Given the description of an element on the screen output the (x, y) to click on. 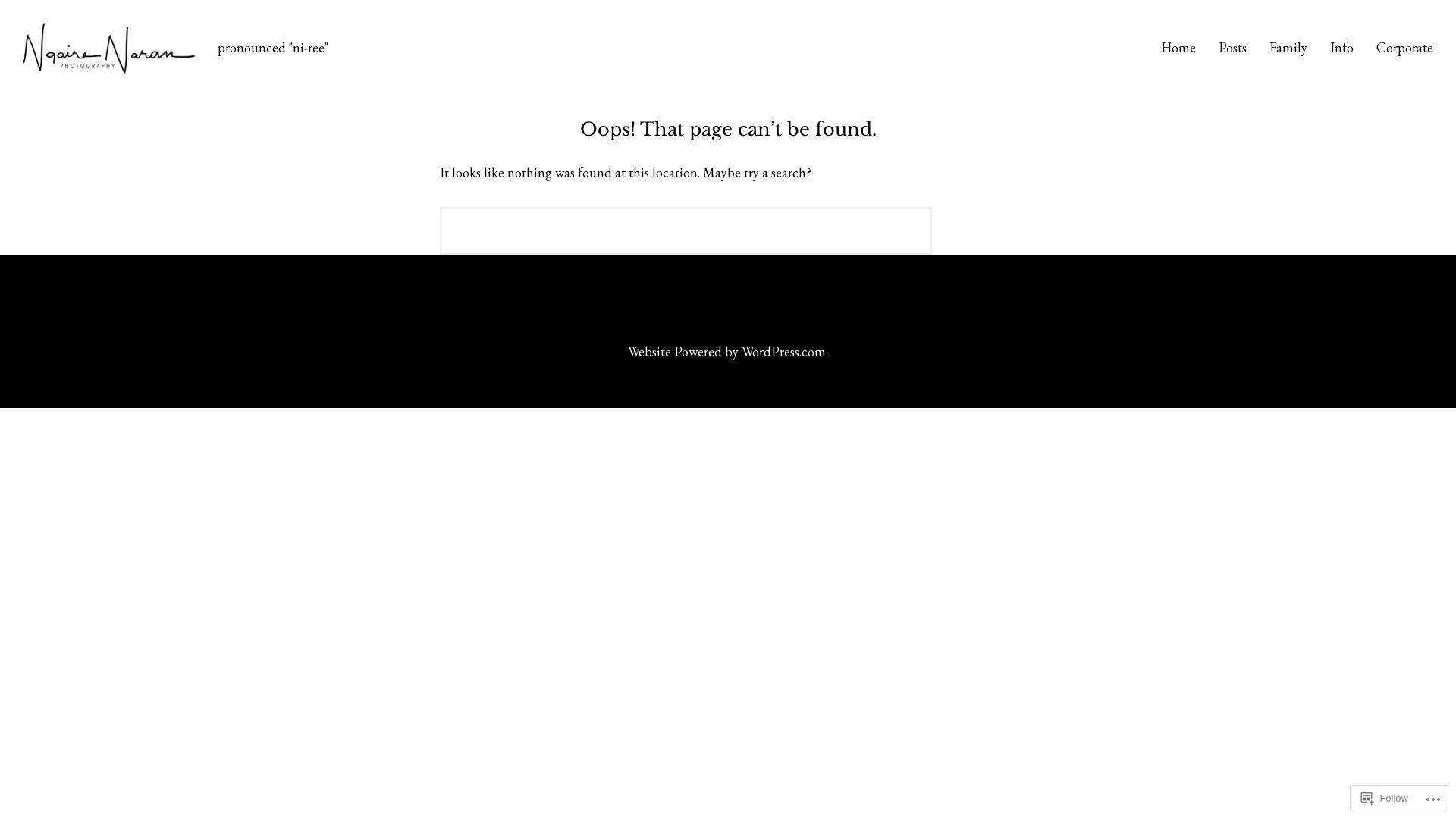
Home Element type: text (1178, 48)
Website Powered by WordPress.com Element type: text (726, 351)
Follow Element type: text (1384, 797)
Posts Element type: text (1232, 48)
Info Element type: text (1341, 48)
Family Element type: text (1288, 48)
Corporate Element type: text (1404, 48)
Search Element type: text (977, 230)
